Given the description of an element on the screen output the (x, y) to click on. 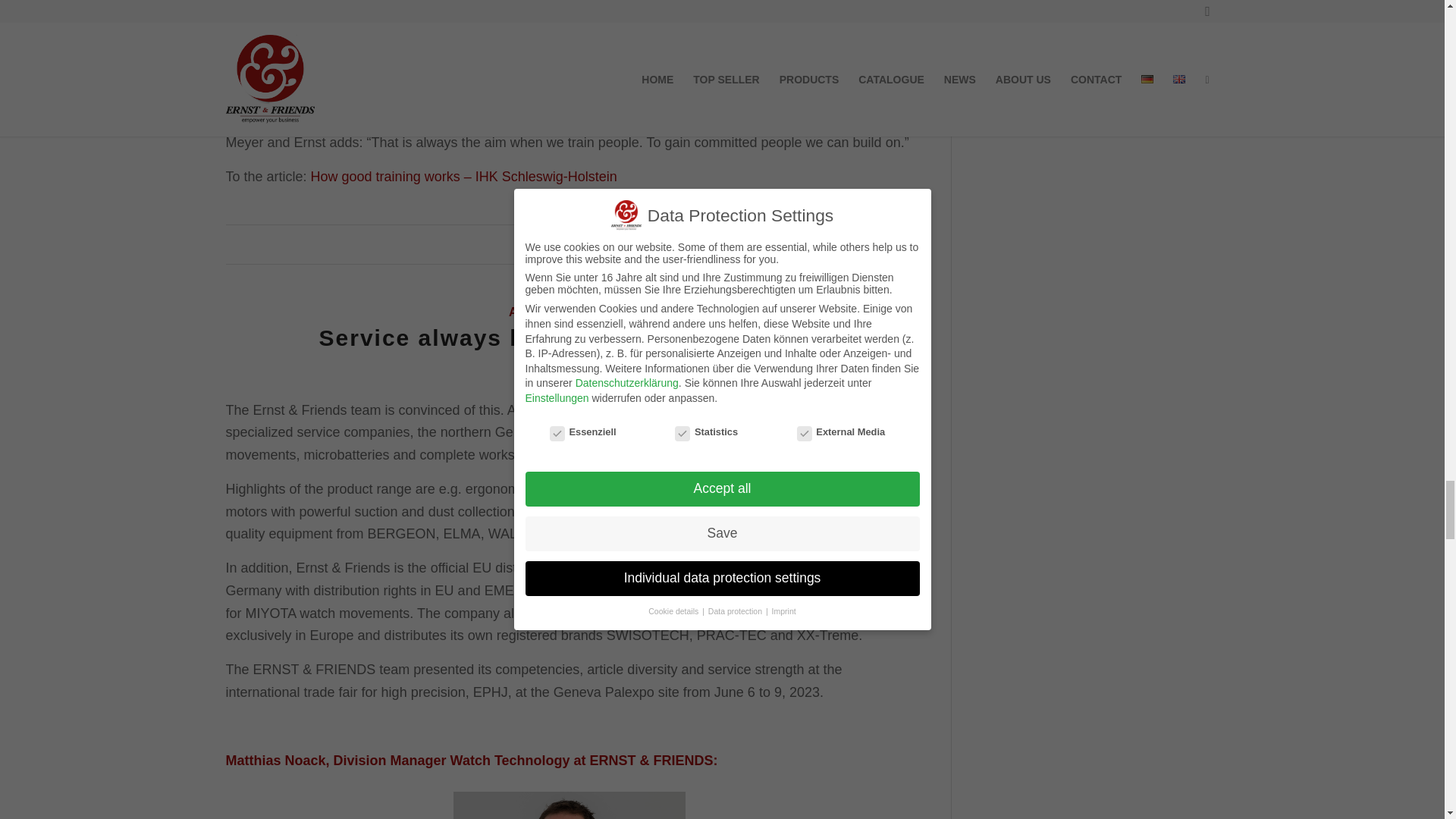
Permanent Link: Service always brings more than it costs (568, 337)
